Given the description of an element on the screen output the (x, y) to click on. 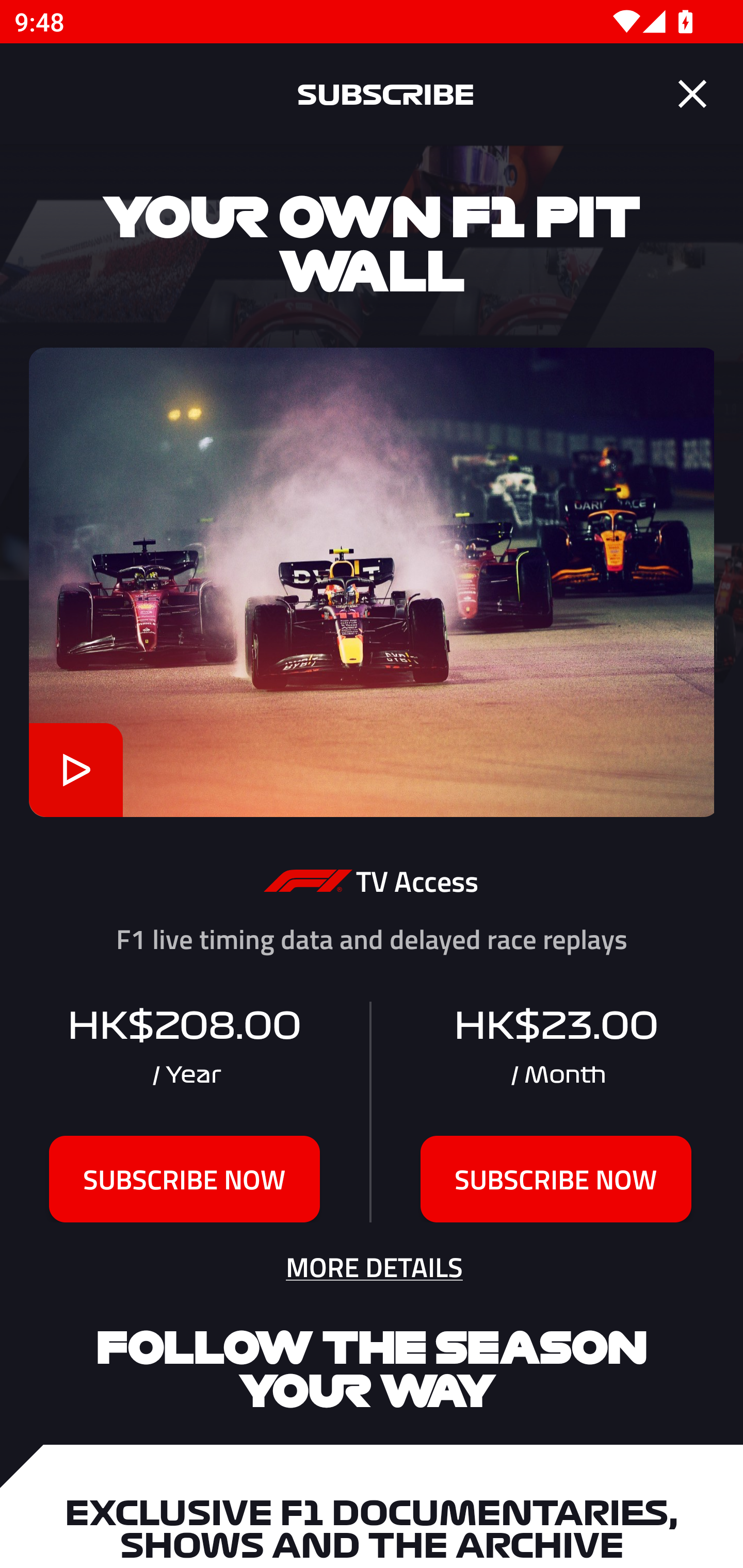
Close (692, 93)
Video Component, tap to play Video (75, 769)
SUBSCRIBE NOW (184, 1179)
SUBSCRIBE NOW (555, 1179)
